Given the description of an element on the screen output the (x, y) to click on. 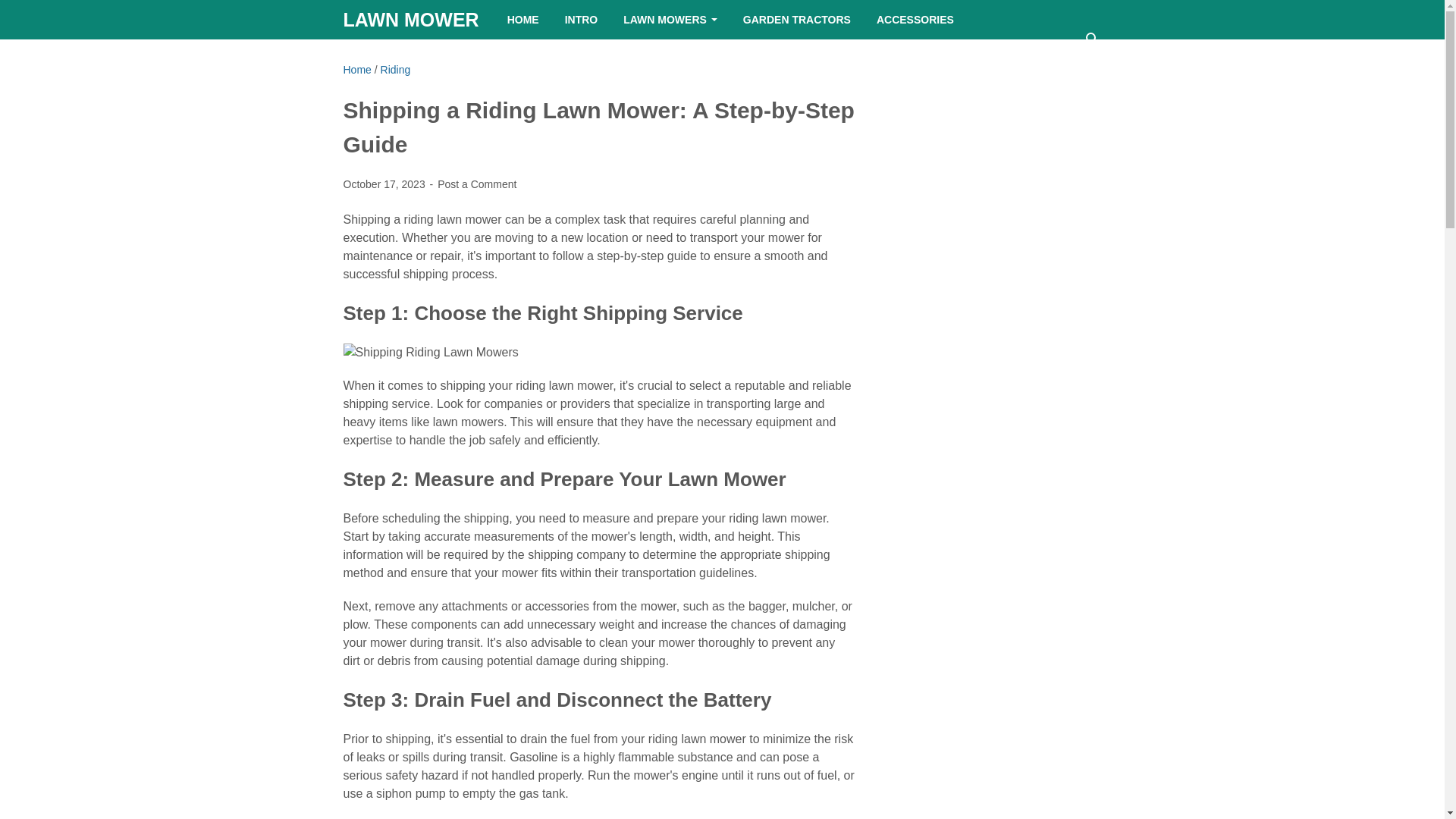
INTRO (581, 19)
MAINTENANCE AND CARE (429, 58)
HOME (523, 19)
Lawn Mower (410, 19)
Riding (395, 69)
Search this blog (1091, 39)
Home (356, 69)
Post a Comment (477, 184)
GARDEN TRACTORS (796, 19)
Home (356, 69)
Riding (395, 69)
LAWN MOWERS (670, 19)
LAWN MOWER (410, 19)
2023-10-17T14:34:00-07:00 (385, 184)
ACCESSORIES (914, 19)
